Given the description of an element on the screen output the (x, y) to click on. 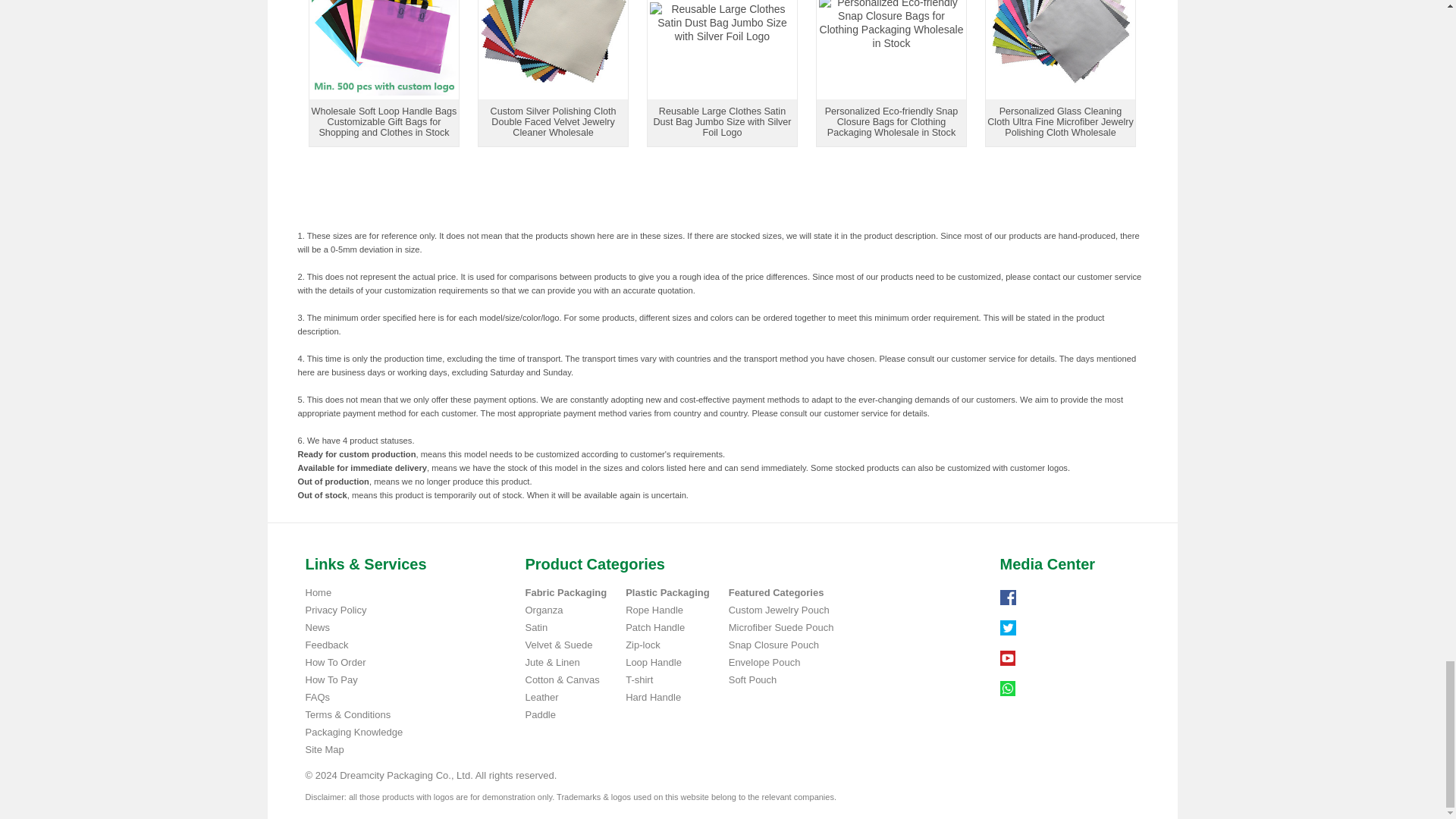
Follow us on Twitter (1007, 627)
Follow us on Facebook (1007, 597)
